Given the description of an element on the screen output the (x, y) to click on. 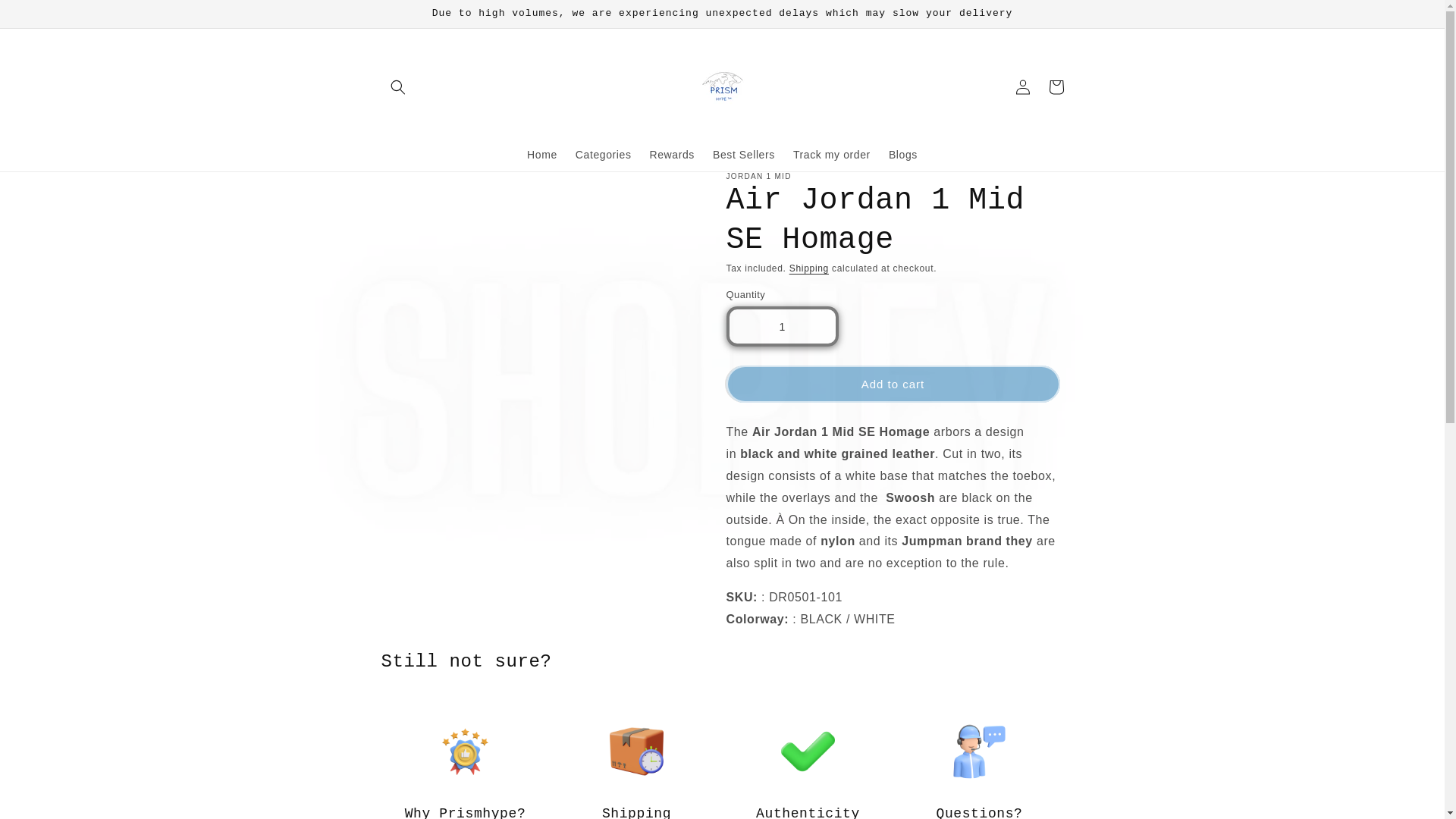
Rewards (671, 154)
Track my order (831, 154)
Shipping (808, 267)
Blogs (902, 154)
Skip to product information (427, 189)
Categories (603, 154)
Log in (1022, 87)
1 (782, 326)
Home (542, 154)
Best Sellers (743, 154)
Cart (1055, 87)
Skip to content (46, 18)
